Given the description of an element on the screen output the (x, y) to click on. 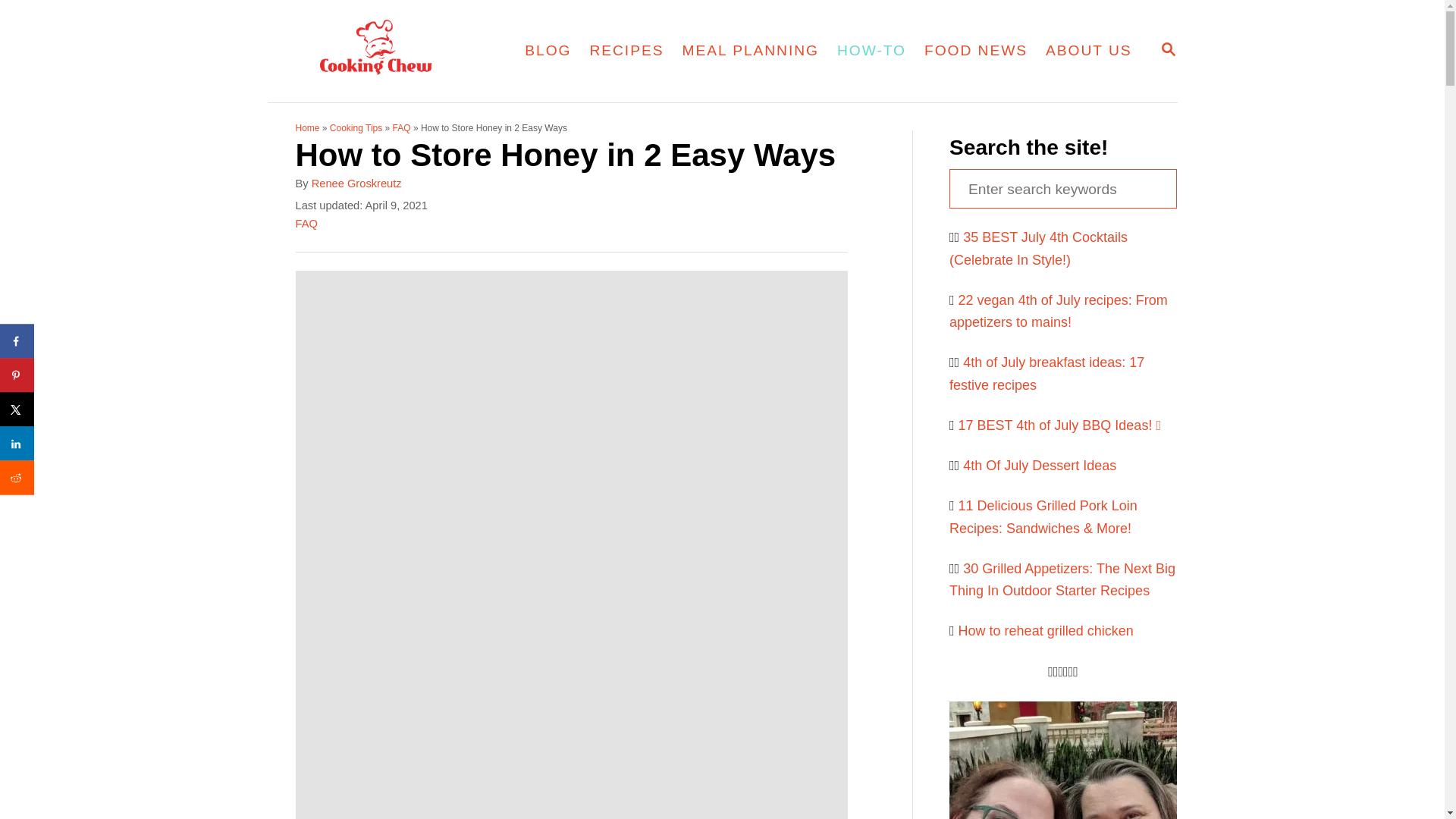
MAGNIFYING GLASS (1167, 49)
MEAL PLANNING (1167, 50)
RECIPES (750, 50)
BLOG (625, 50)
Cooking Chew (547, 50)
